Given the description of an element on the screen output the (x, y) to click on. 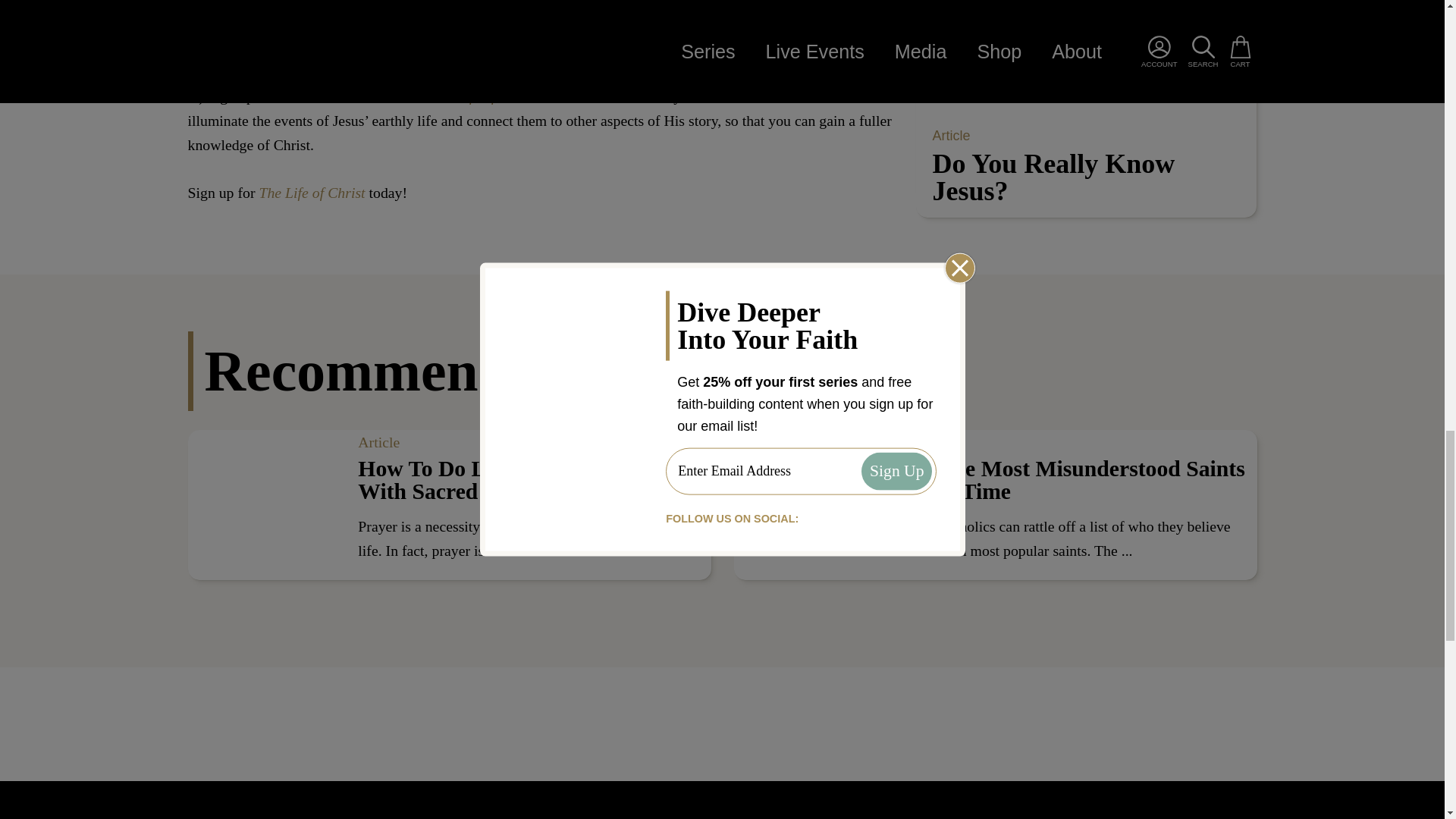
The Life of Christ (312, 192)
The Life of Christ (483, 95)
This particular one (660, 4)
